Given the description of an element on the screen output the (x, y) to click on. 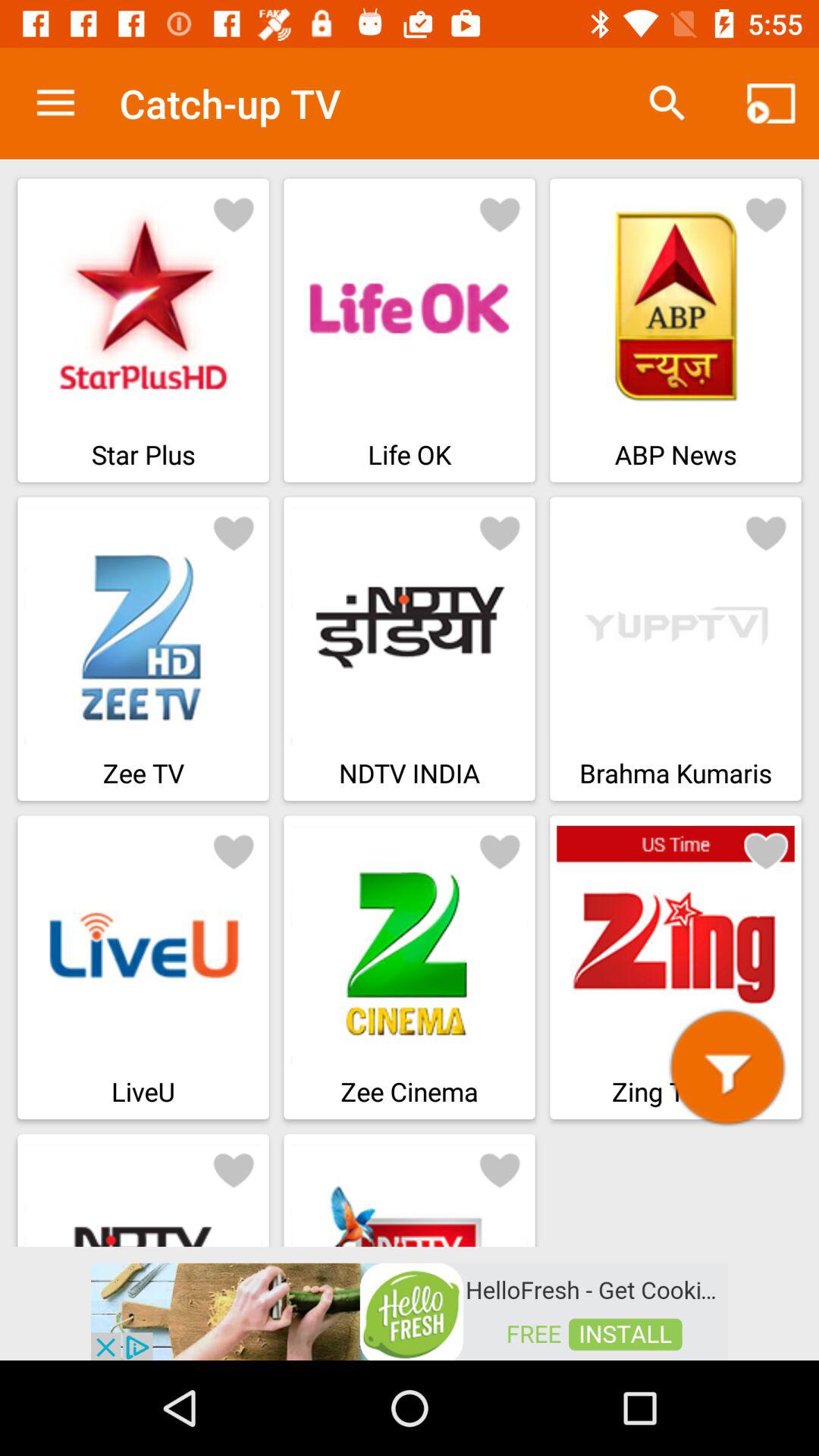
filter button (727, 1067)
